Given the description of an element on the screen output the (x, y) to click on. 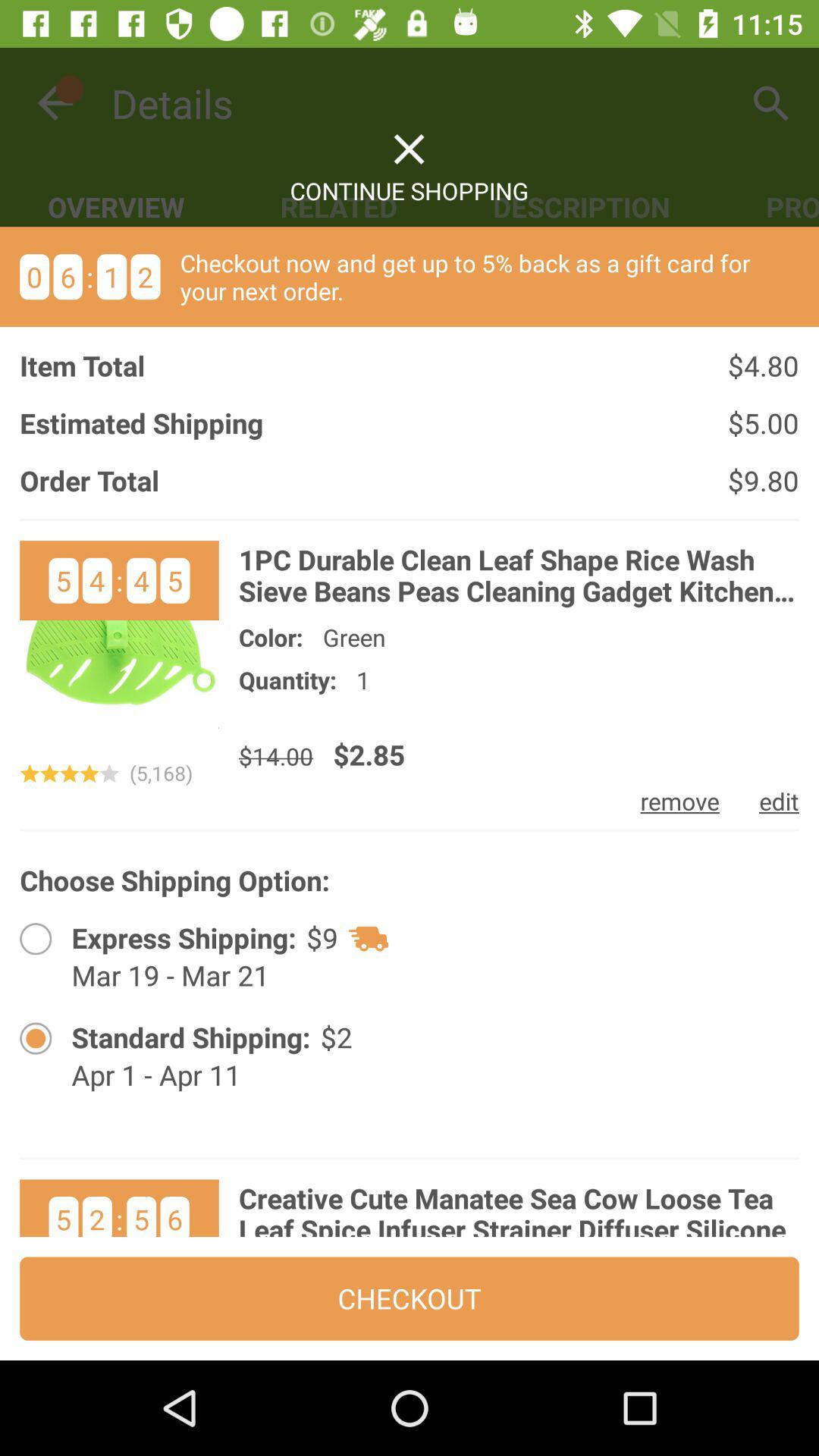
select a image which is below order total on a page (119, 639)
